Given the description of an element on the screen output the (x, y) to click on. 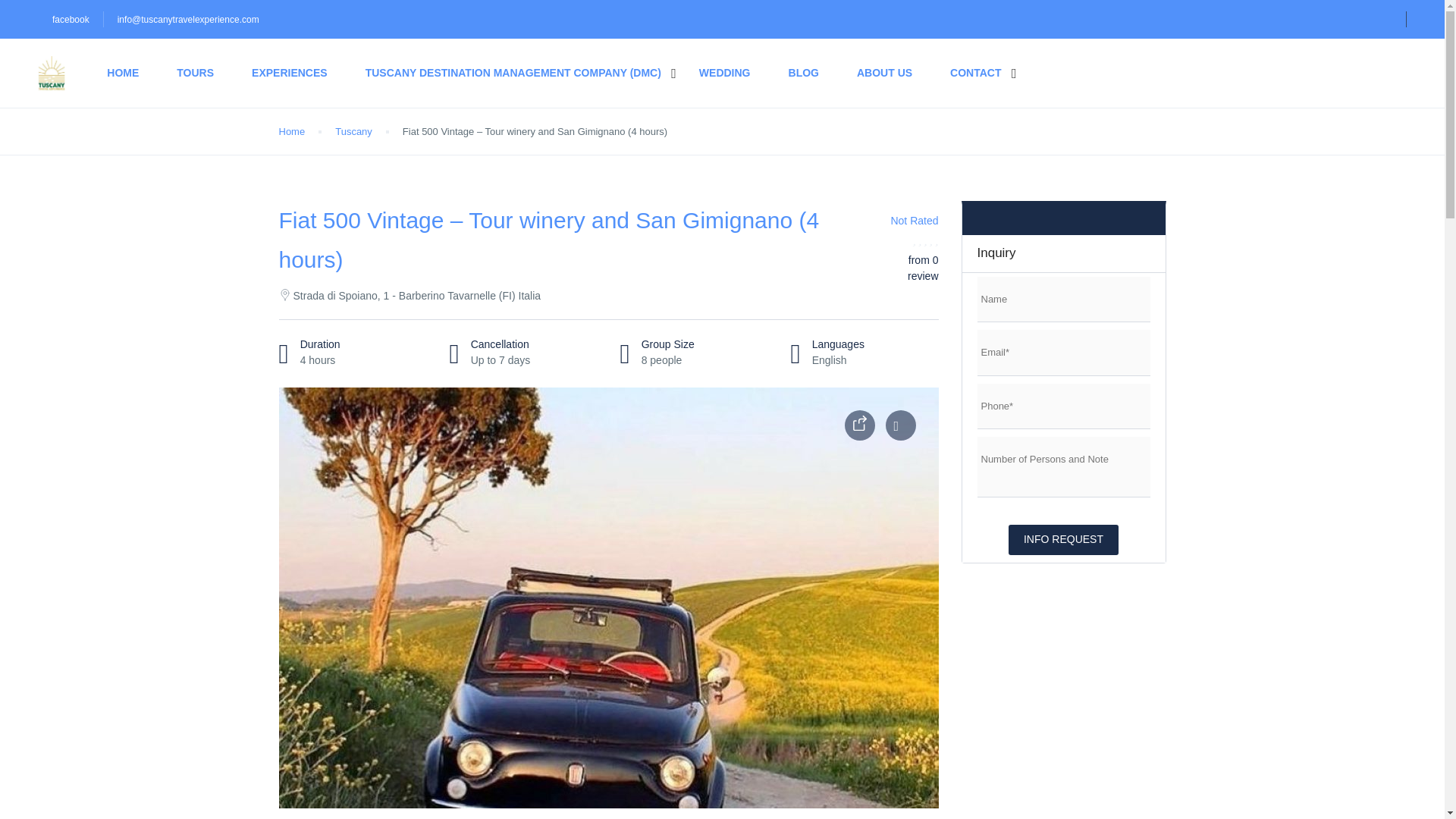
HOME (122, 72)
facebook (70, 19)
INFO REQUEST (1063, 539)
EXPERIENCES (289, 72)
WEDDING (724, 72)
CONTACT (975, 72)
Home (292, 131)
INFO REQUEST (1063, 539)
BLOG (804, 72)
Send message (50, 15)
ABOUT US (884, 72)
Tuscany (353, 131)
TOURS (194, 72)
